Given the description of an element on the screen output the (x, y) to click on. 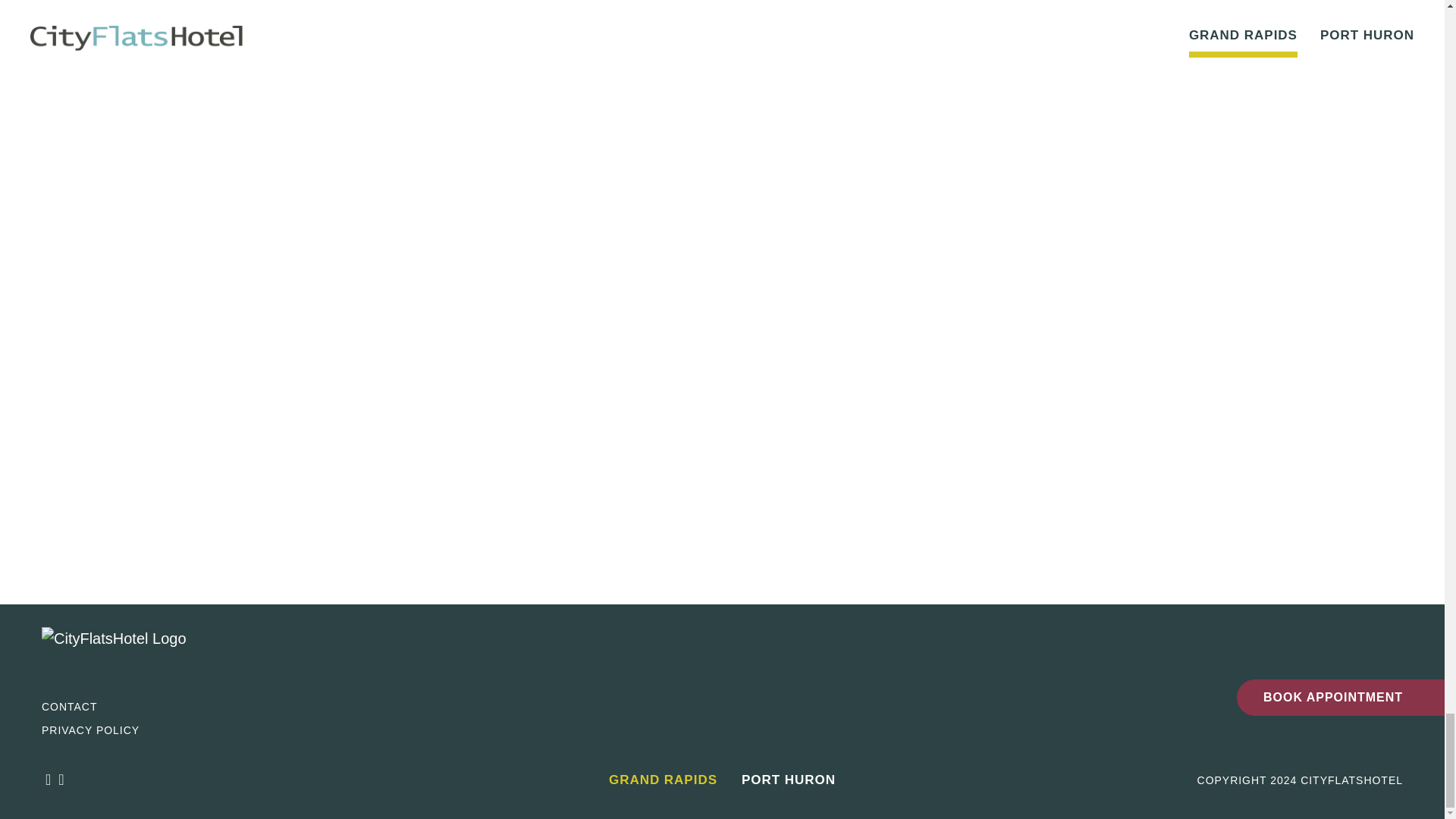
Connect with us on Instagram (61, 779)
CityFlatsHotel (114, 647)
Connect with us on Facebook (47, 779)
